Given the description of an element on the screen output the (x, y) to click on. 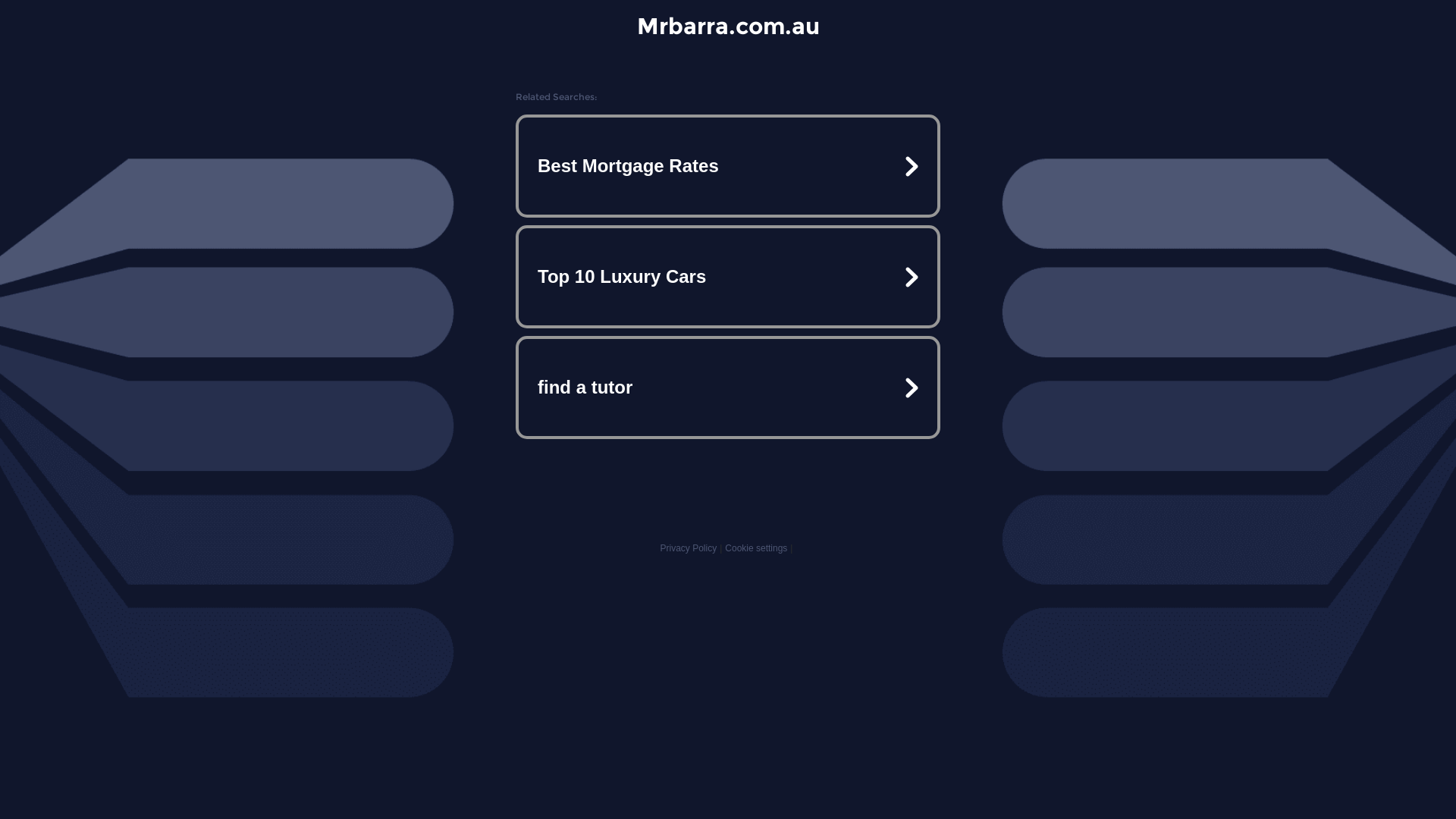
Mrbarra.com.au Element type: text (728, 26)
Cookie settings Element type: text (755, 547)
Top 10 Luxury Cars Element type: text (727, 276)
Privacy Policy Element type: text (687, 547)
find a tutor Element type: text (727, 387)
Best Mortgage Rates Element type: text (727, 165)
